Given the description of an element on the screen output the (x, y) to click on. 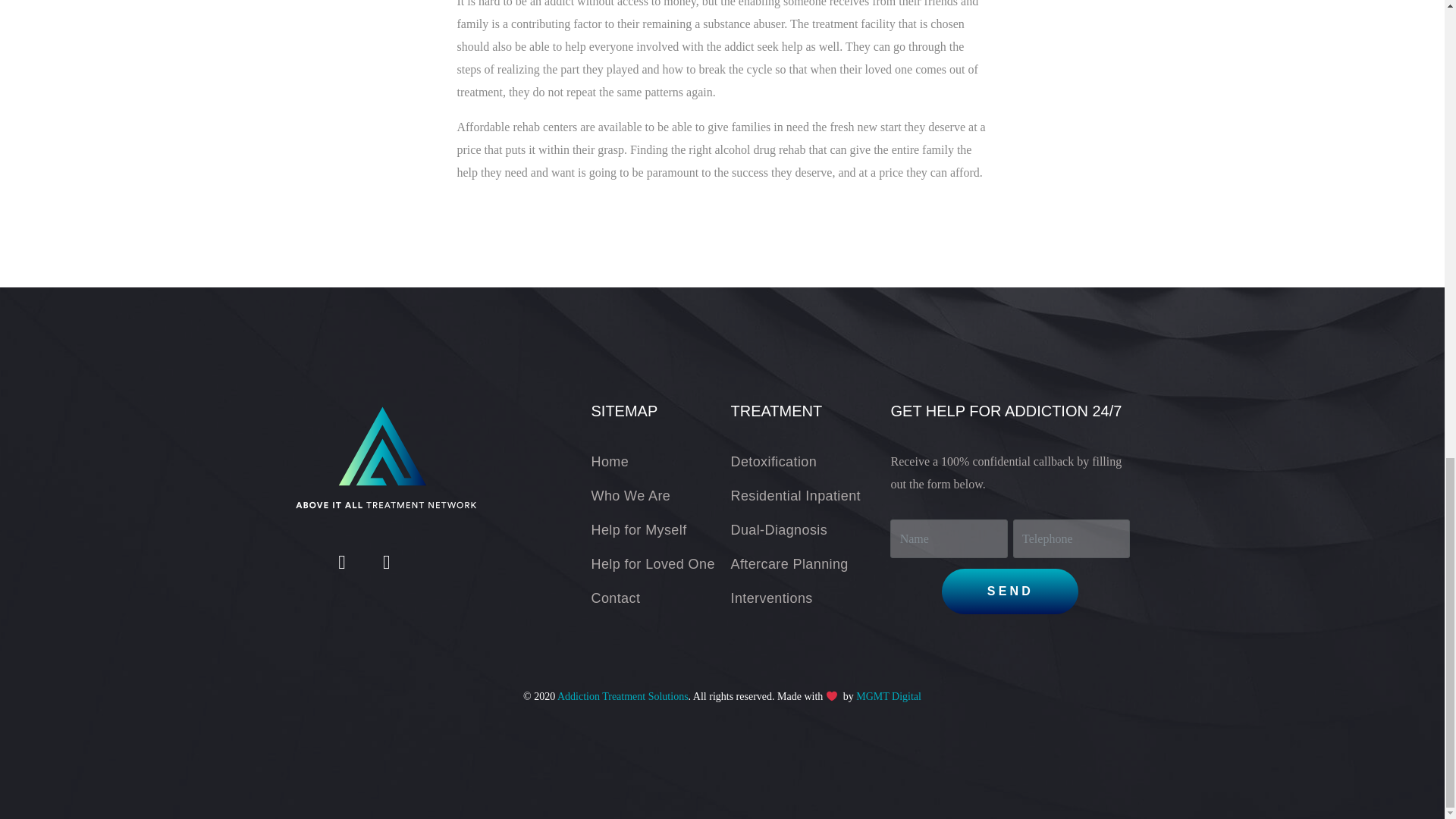
Who We Are (660, 495)
Help for Myself (660, 529)
Residential Inpatient (809, 495)
Help for Loved One (660, 563)
Home (660, 461)
Contact (660, 598)
Dual-Diagnosis (809, 529)
Detoxification (809, 461)
